Given the description of an element on the screen output the (x, y) to click on. 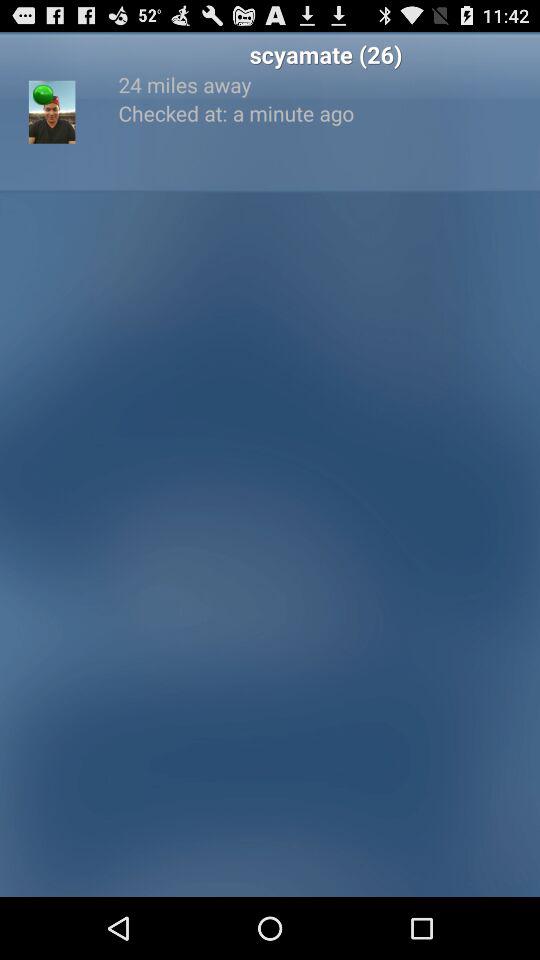
tap the icon above the checked at a icon (325, 84)
